Given the description of an element on the screen output the (x, y) to click on. 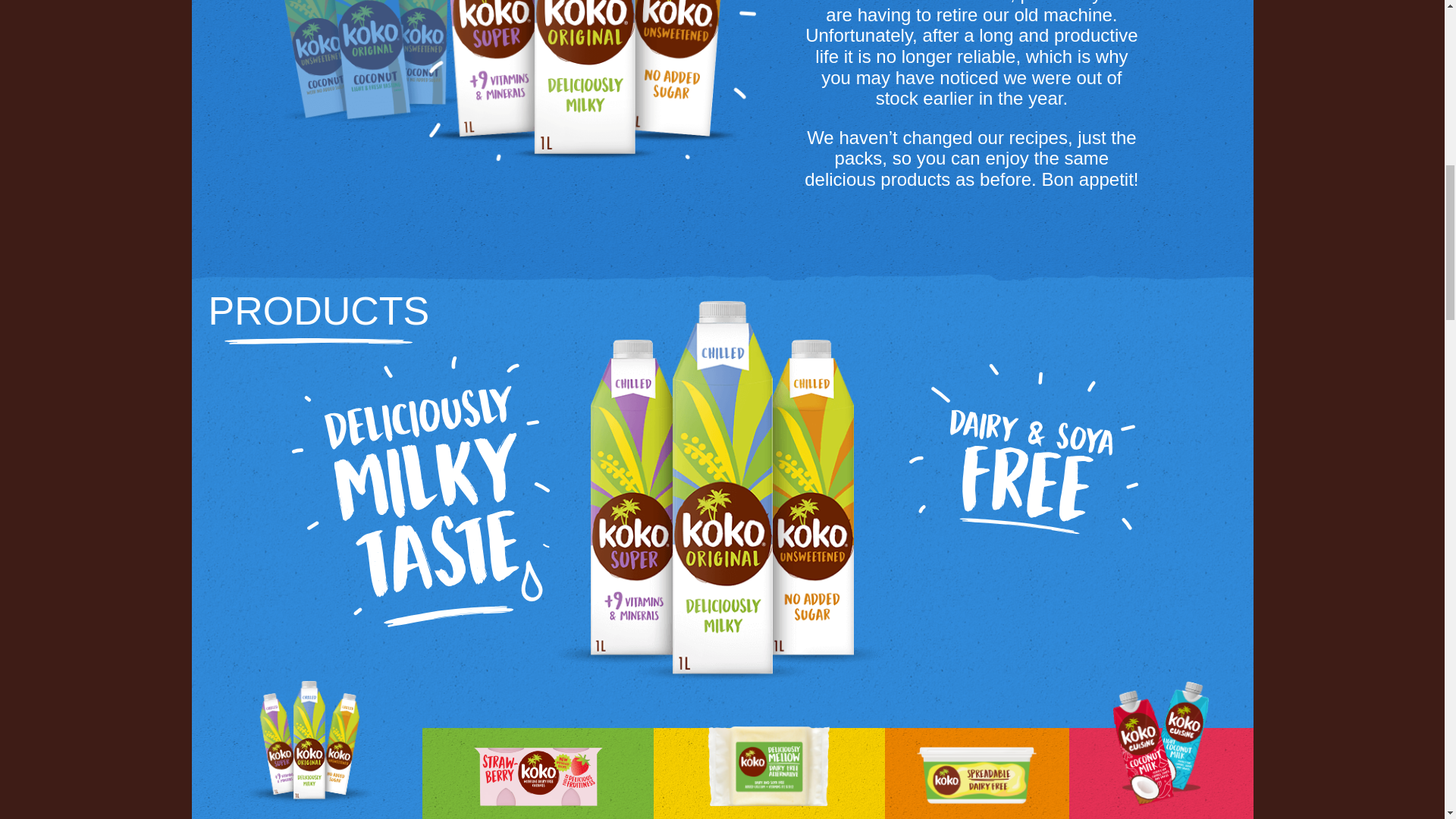
YOGURT ALTERNATIVES (537, 773)
SEE OUR RANGE (1023, 597)
MILK ALTERNATIVES (306, 773)
CHEESE ALTERNATIVES (769, 773)
CUISINE COCONUT MILK (1160, 773)
SPREAD (976, 773)
